Given the description of an element on the screen output the (x, y) to click on. 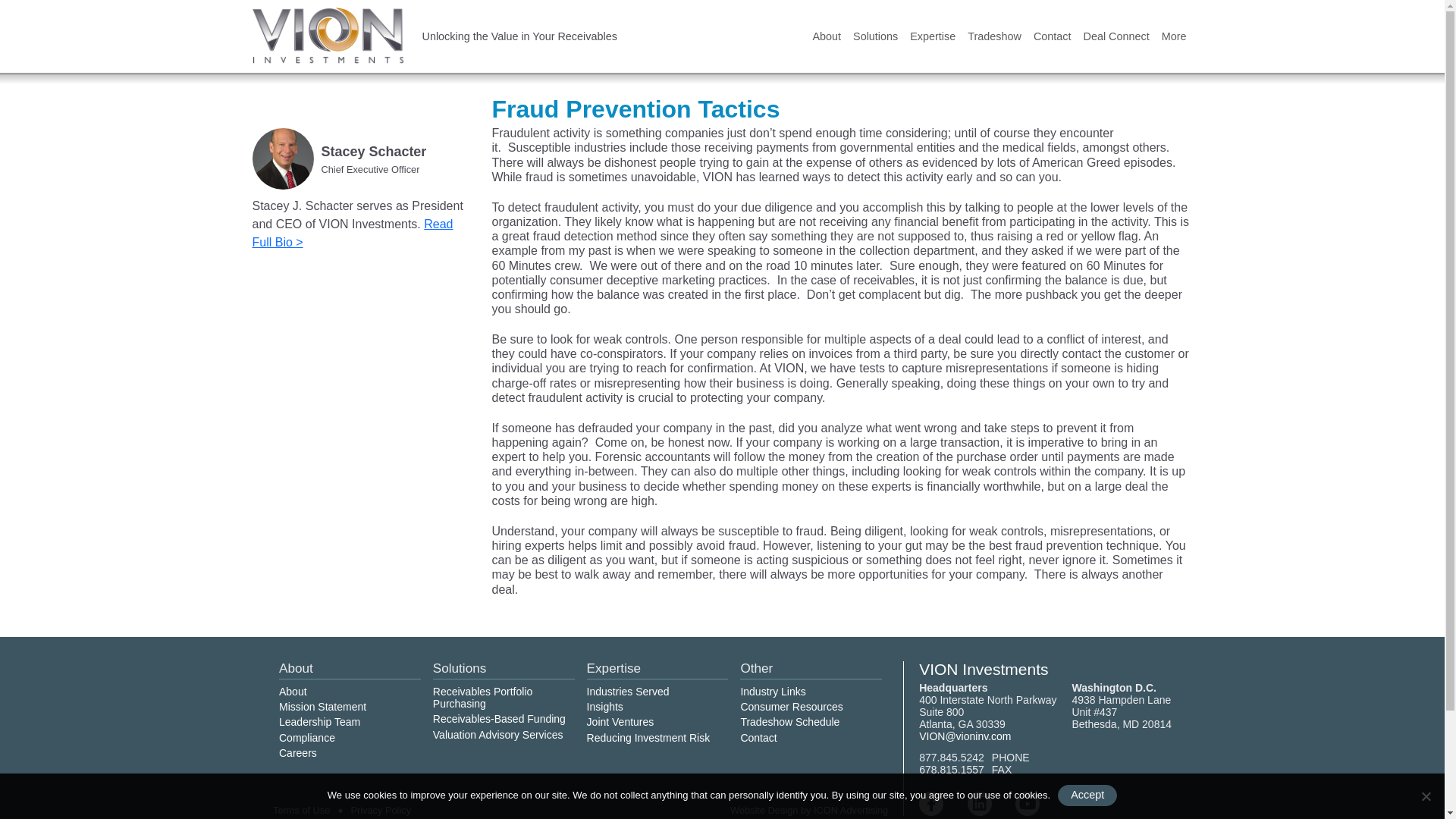
Careers (298, 752)
Industries Served (627, 691)
Leadership Team (319, 721)
Joint Ventures (619, 721)
Receivables-Based Funding (499, 718)
Reducing Investment Risk (648, 736)
Tradeshow Schedule (789, 721)
Receivables Portfolio Purchasing (482, 697)
Insights (604, 706)
No (1425, 795)
Deal Connect (1115, 36)
Consumer Resources (791, 706)
Valuation Advisory Services (497, 734)
Industry Links (772, 691)
Mission Statement (322, 706)
